Given the description of an element on the screen output the (x, y) to click on. 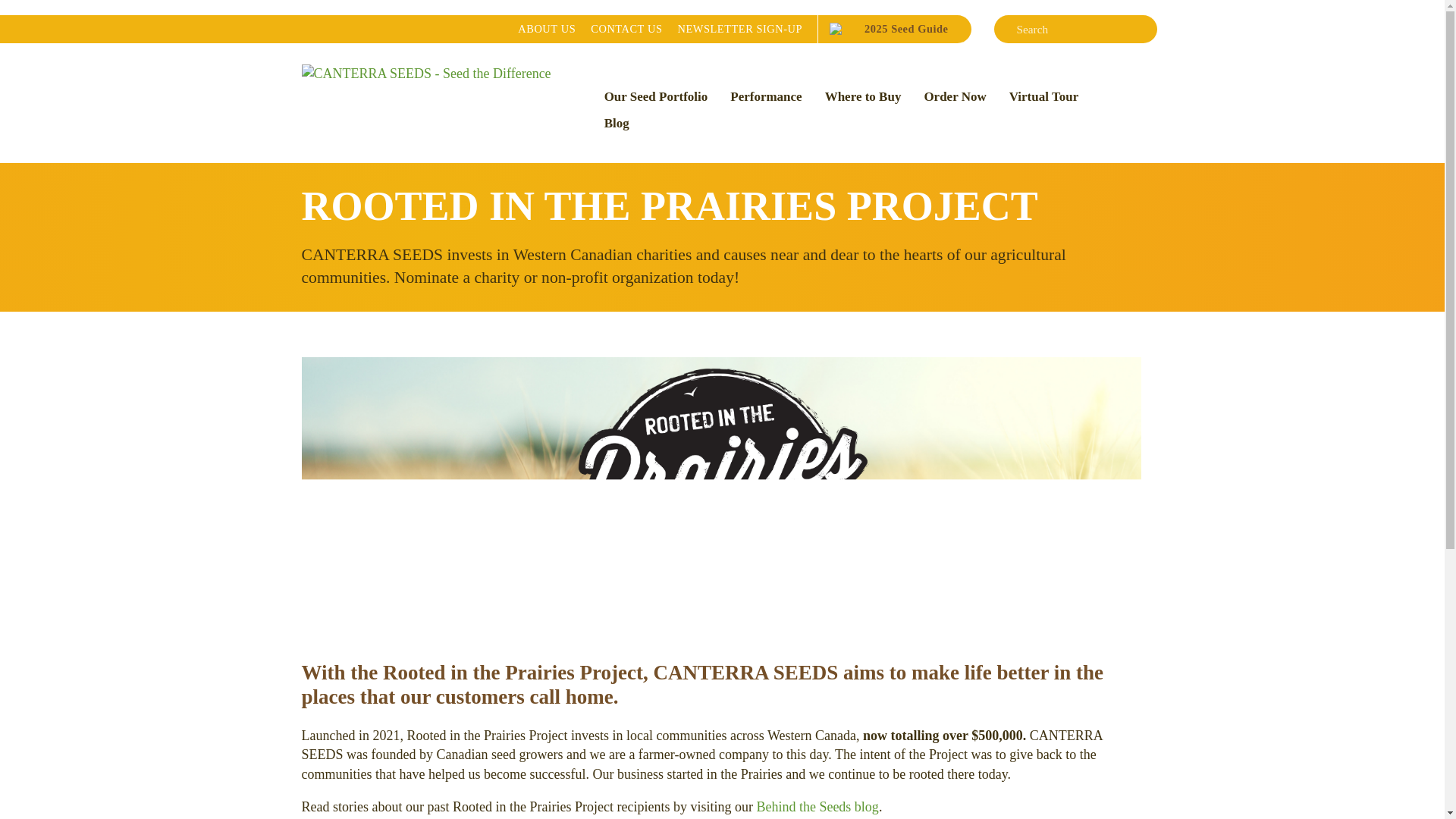
Our Seed Portfolio (626, 29)
NEWSLETTER SIGN-UP (546, 29)
Behind the Seeds blog (655, 97)
Virtual Tour (881, 29)
Blog (740, 29)
Search (816, 806)
Where to Buy (1043, 97)
Performance (616, 123)
Order Now (1142, 28)
